Given the description of an element on the screen output the (x, y) to click on. 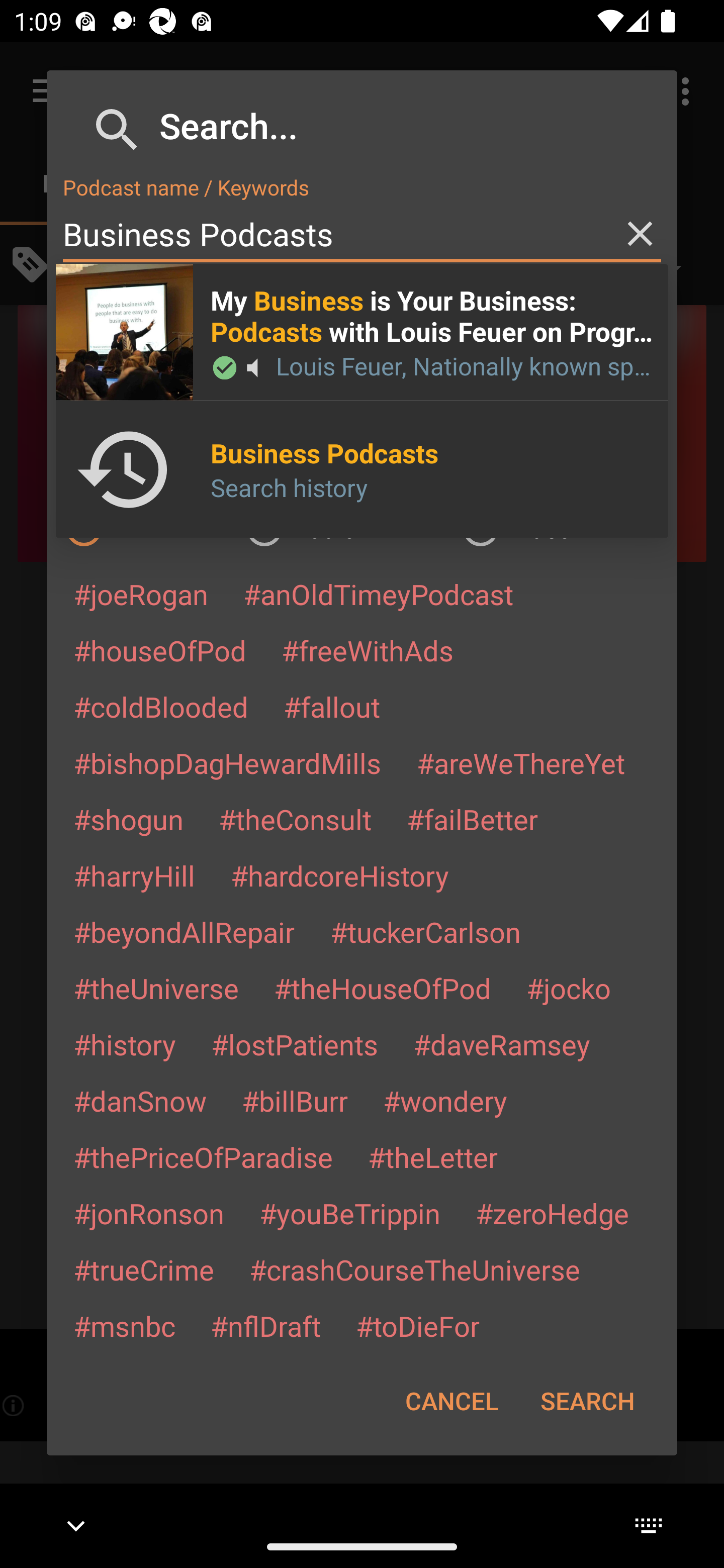
Business Podcasts (361, 234)
#joeRogan (140, 594)
#anOldTimeyPodcast (378, 594)
#houseOfPod (159, 650)
#freeWithAds (367, 650)
#coldBlooded (160, 705)
#fallout (331, 705)
#bishopDagHewardMills (227, 762)
#areWeThereYet (521, 762)
#shogun (128, 818)
#theConsult (294, 818)
#failBetter (471, 818)
#harryHill (134, 875)
#hardcoreHistory (339, 875)
#beyondAllRepair (184, 931)
#tuckerCarlson (425, 931)
#theUniverse (155, 987)
#theHouseOfPod (381, 987)
#jocko (568, 987)
#history (124, 1044)
#lostPatients (294, 1044)
#daveRamsey (501, 1044)
#danSnow (139, 1100)
#billBurr (294, 1100)
#wondery (444, 1100)
#thePriceOfParadise (203, 1157)
#theLetter (432, 1157)
#jonRonson (148, 1213)
#youBeTrippin (349, 1213)
#zeroHedge (552, 1213)
#trueCrime (143, 1268)
#crashCourseTheUniverse (414, 1268)
#msnbc (124, 1325)
#nflDraft (265, 1325)
#toDieFor (417, 1325)
CANCEL (451, 1400)
SEARCH (587, 1400)
